Given the description of an element on the screen output the (x, y) to click on. 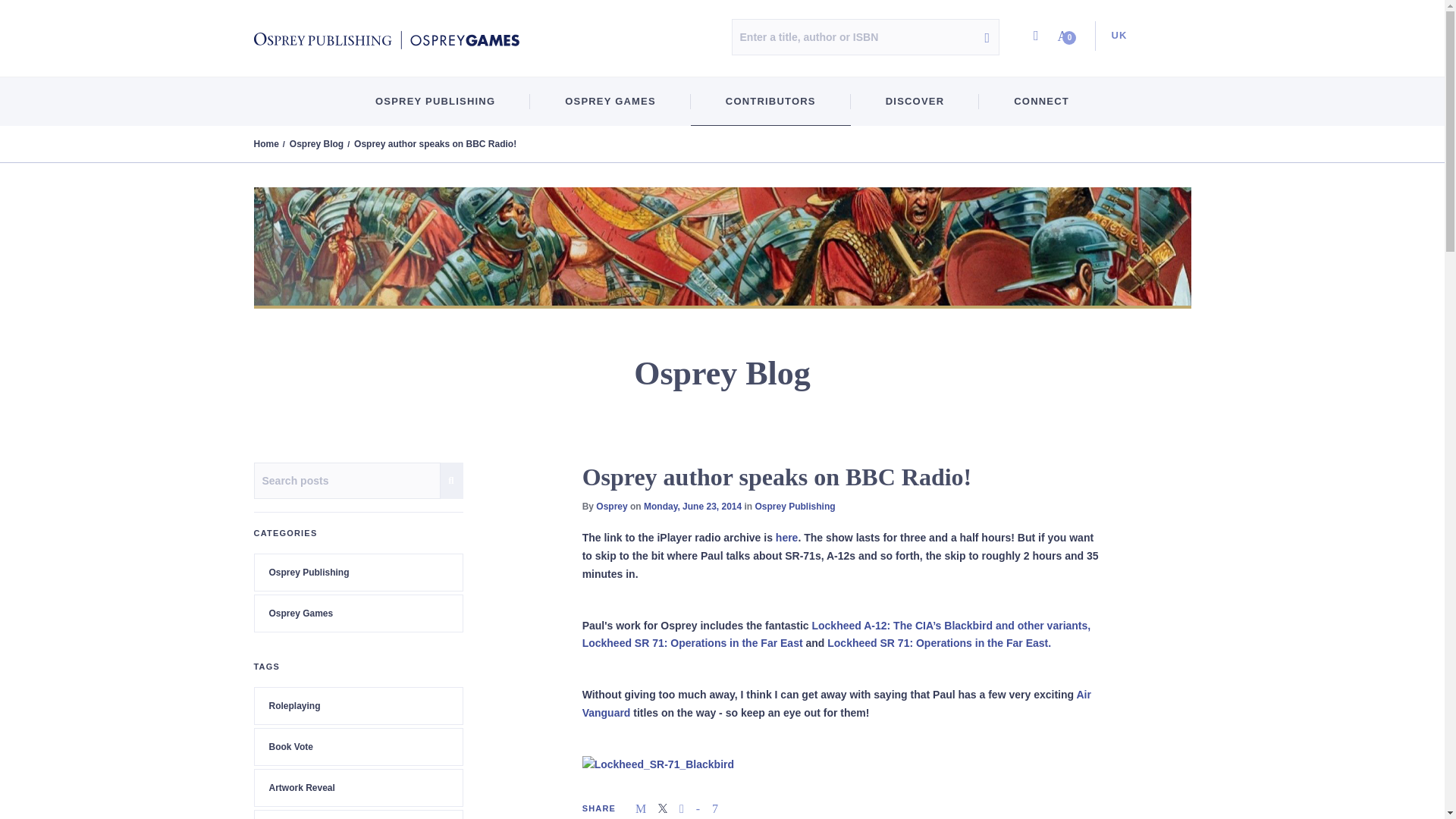
OSPREY GAMES (609, 101)
CONTRIBUTORS (770, 101)
UK (1114, 35)
0 (1066, 35)
DISCOVER (914, 101)
CONNECT (1040, 101)
OSPREY PUBLISHING (434, 101)
